Given the description of an element on the screen output the (x, y) to click on. 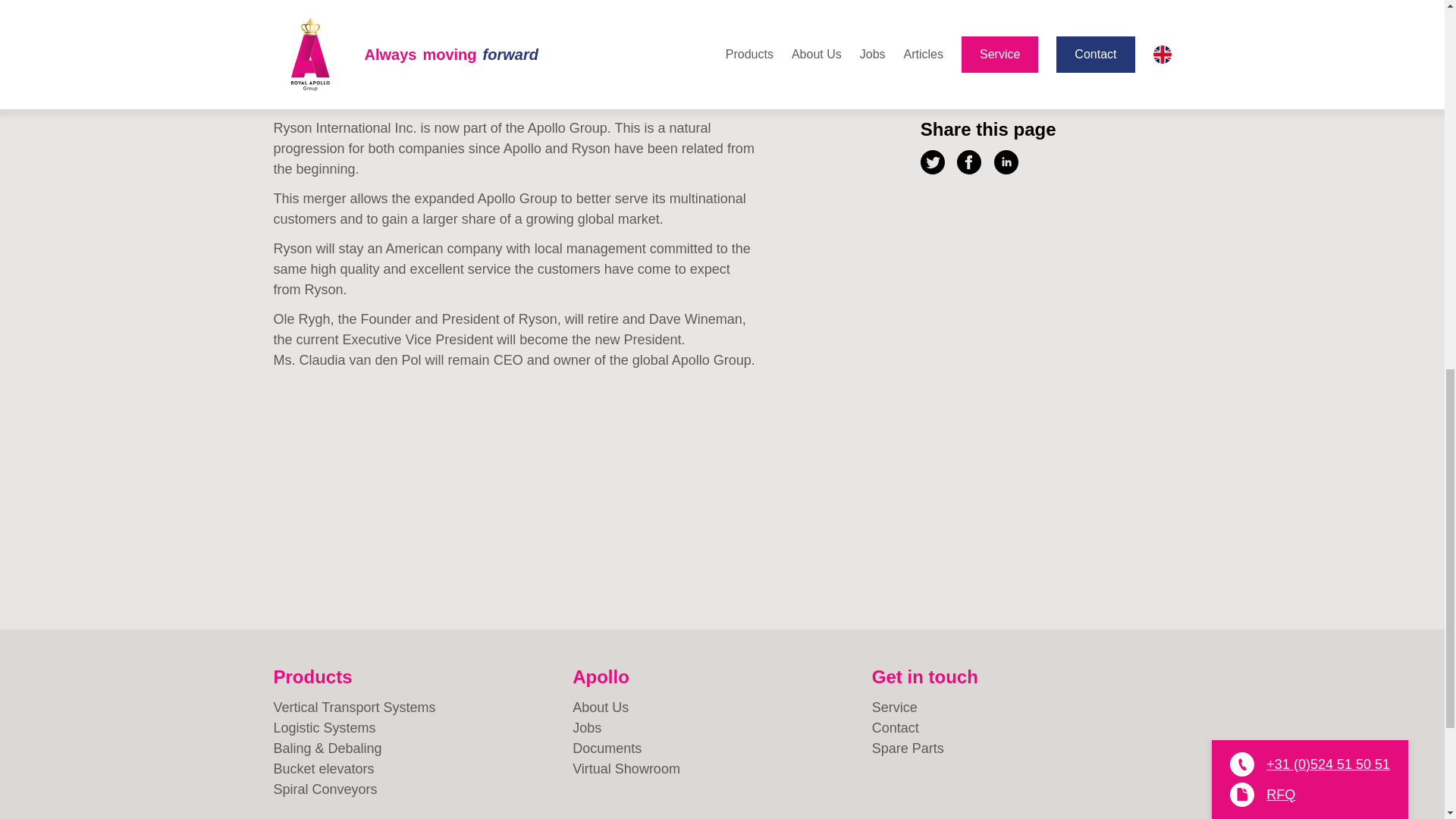
Vertical Transport Systems (422, 707)
Bucket elevators (422, 769)
Virtual Showroom (722, 769)
Jobs (722, 728)
Spiral Conveyors (422, 789)
Logistic Systems (422, 728)
About Us (722, 707)
Logistic Systems (422, 728)
Spiral Conveyors (422, 789)
Service (1022, 707)
Bucket elevators (422, 769)
Spare Parts (1022, 748)
Vertical Transport Systems (422, 707)
Documents (722, 748)
Contact (1022, 728)
